Given the description of an element on the screen output the (x, y) to click on. 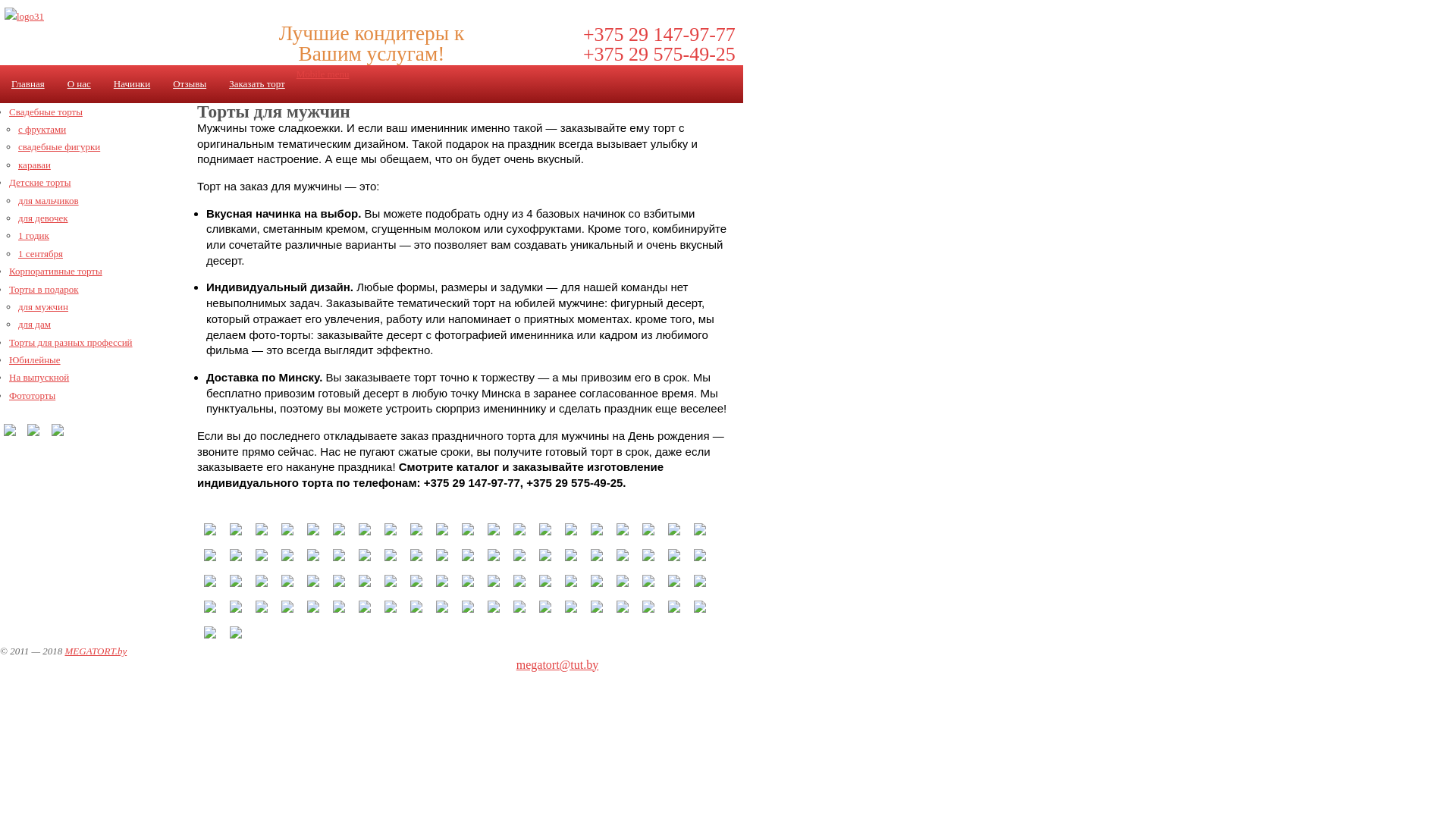
megatort@tut.by Element type: text (557, 664)
MEGATORT.by Element type: text (95, 650)
Mobile menu Element type: text (322, 73)
